Given the description of an element on the screen output the (x, y) to click on. 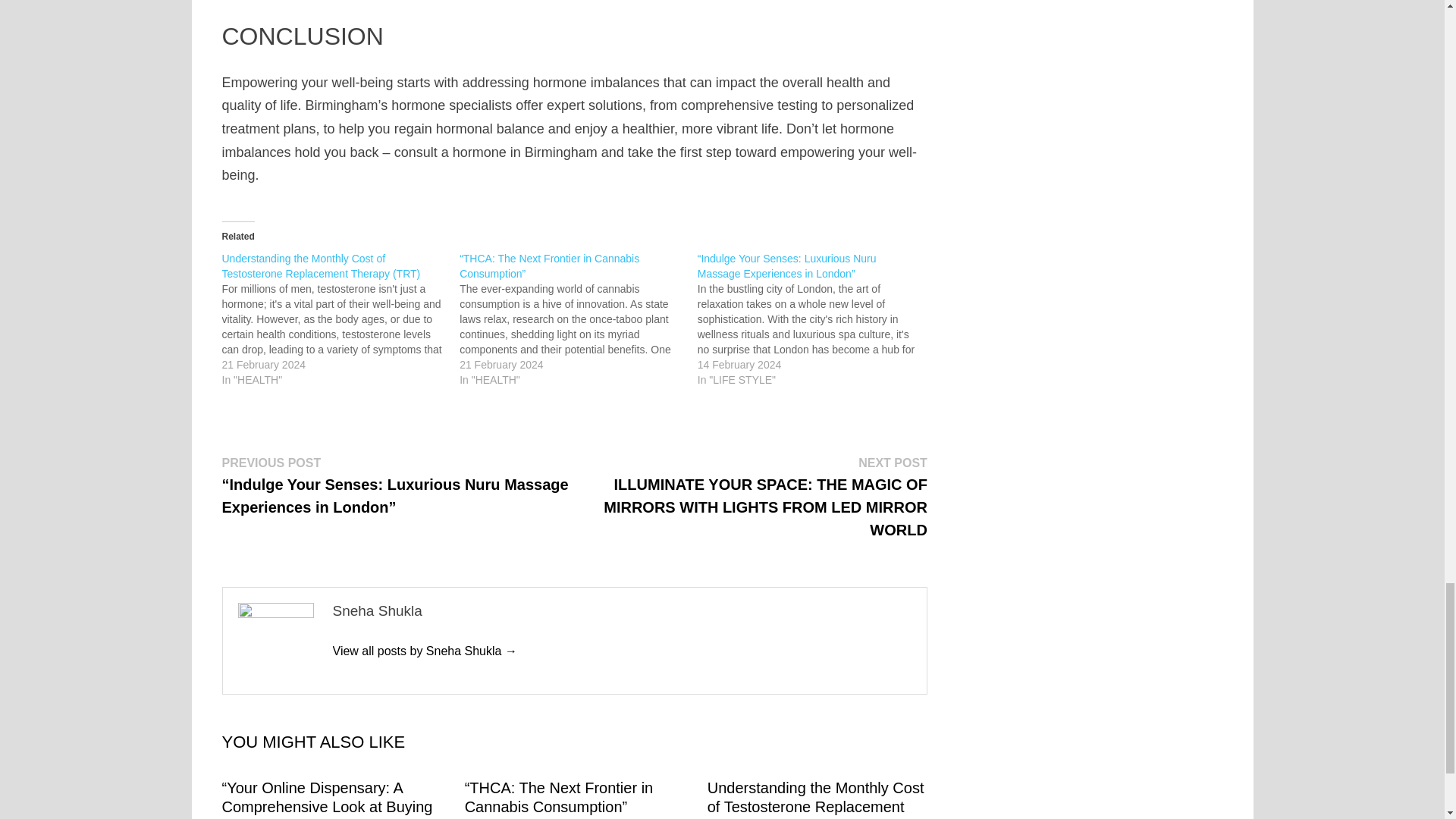
Sneha Shukla (423, 650)
